Given the description of an element on the screen output the (x, y) to click on. 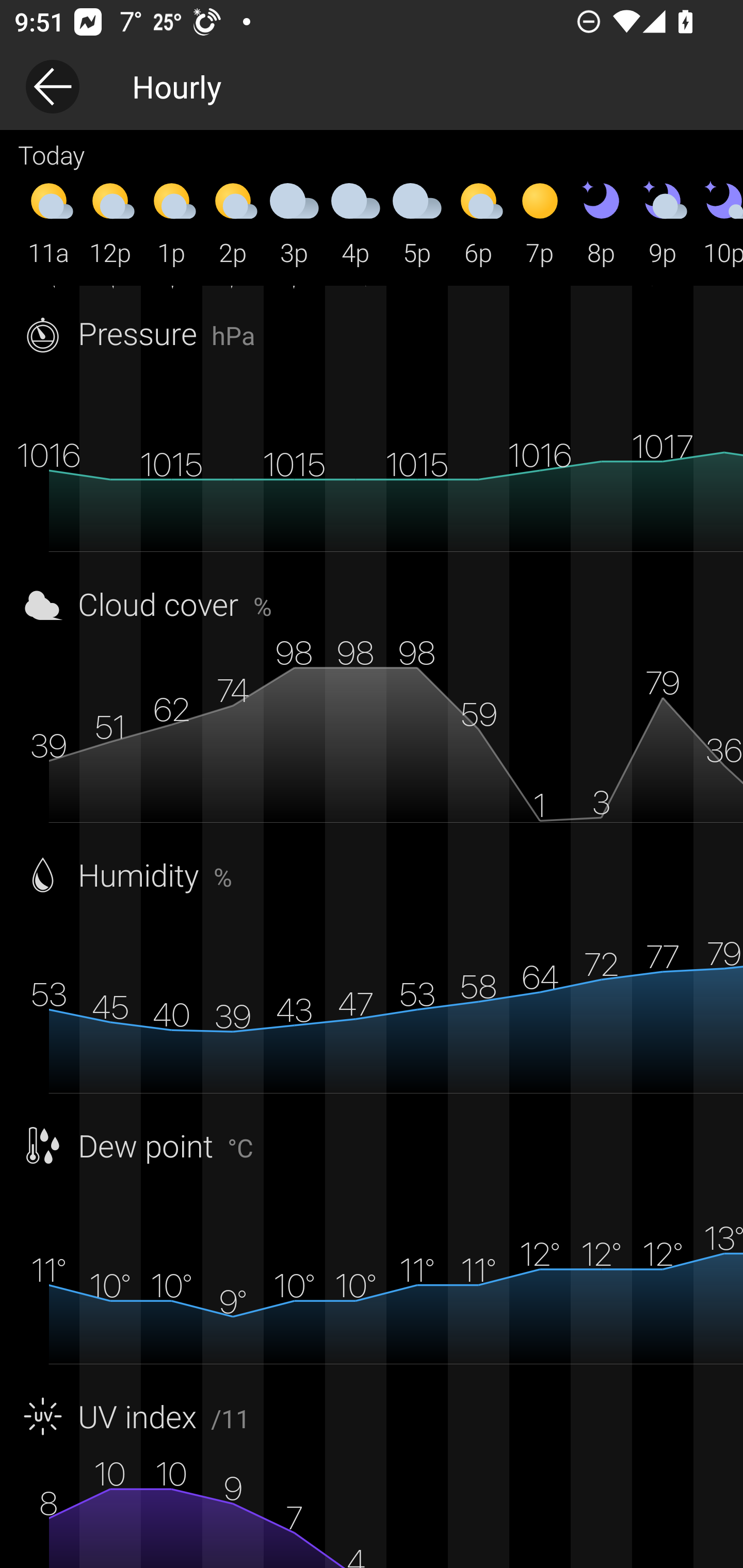
11a (48, 222)
12p (110, 222)
1p (171, 222)
2p (232, 222)
3p (294, 222)
4p (355, 222)
5p (417, 222)
6p (478, 222)
7p (539, 222)
8p (601, 222)
9p (662, 222)
10p (718, 222)
